Given the description of an element on the screen output the (x, y) to click on. 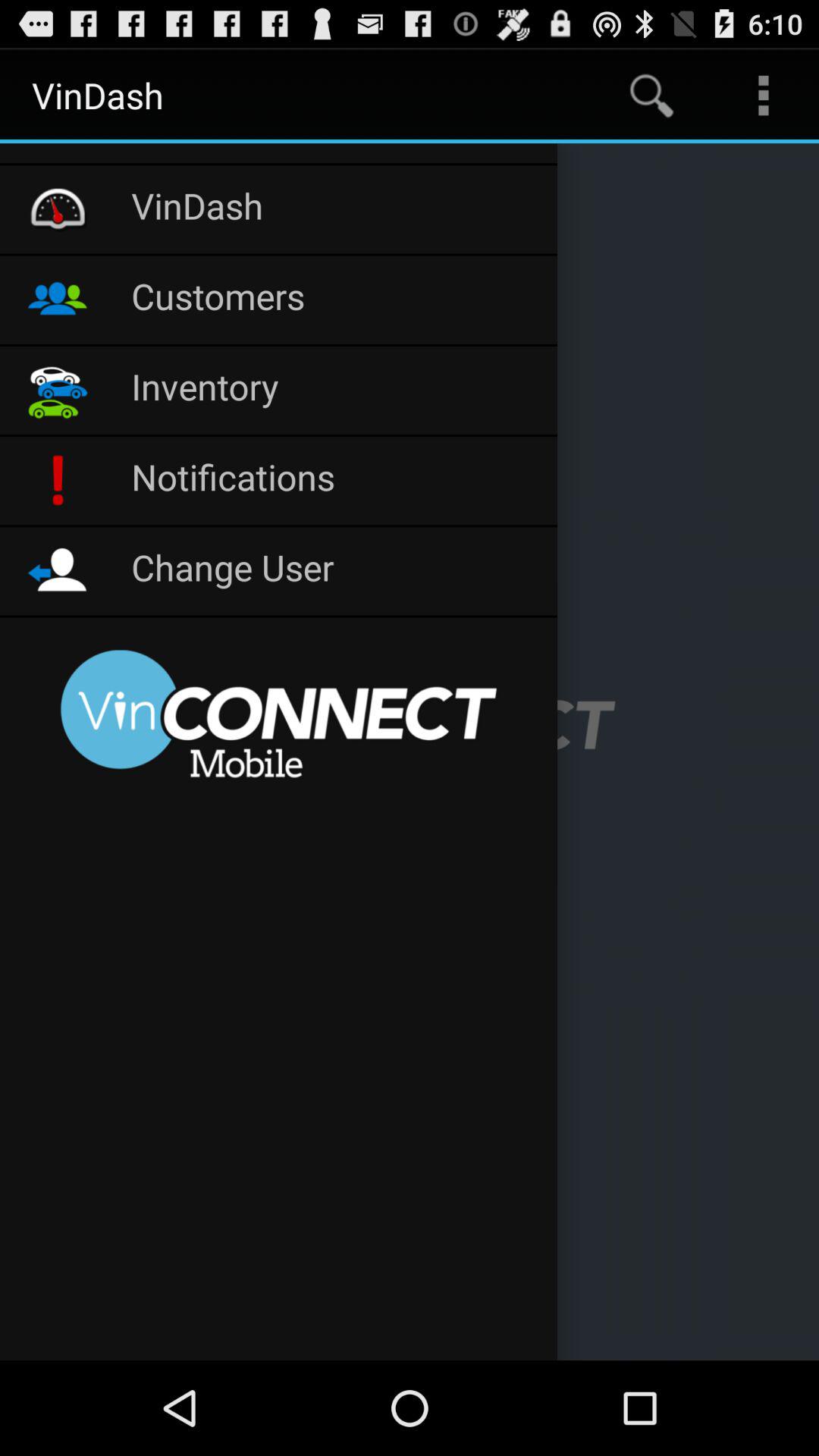
turn off the item below notifications app (336, 570)
